Given the description of an element on the screen output the (x, y) to click on. 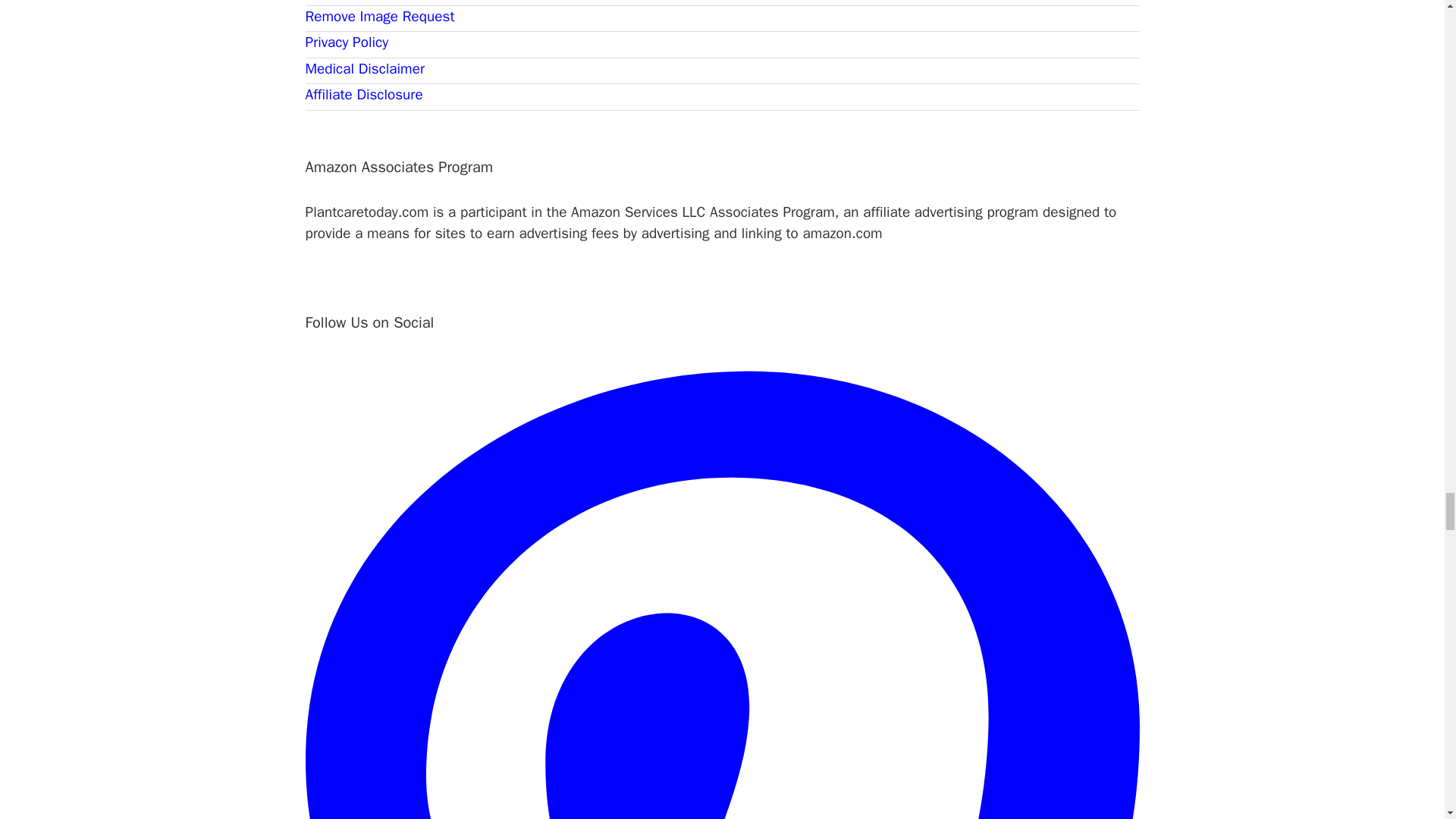
Remove Image Request (379, 16)
Affiliate Disclosure (363, 94)
Privacy Policy (346, 42)
Medical Disclaimer (363, 68)
